Given the description of an element on the screen output the (x, y) to click on. 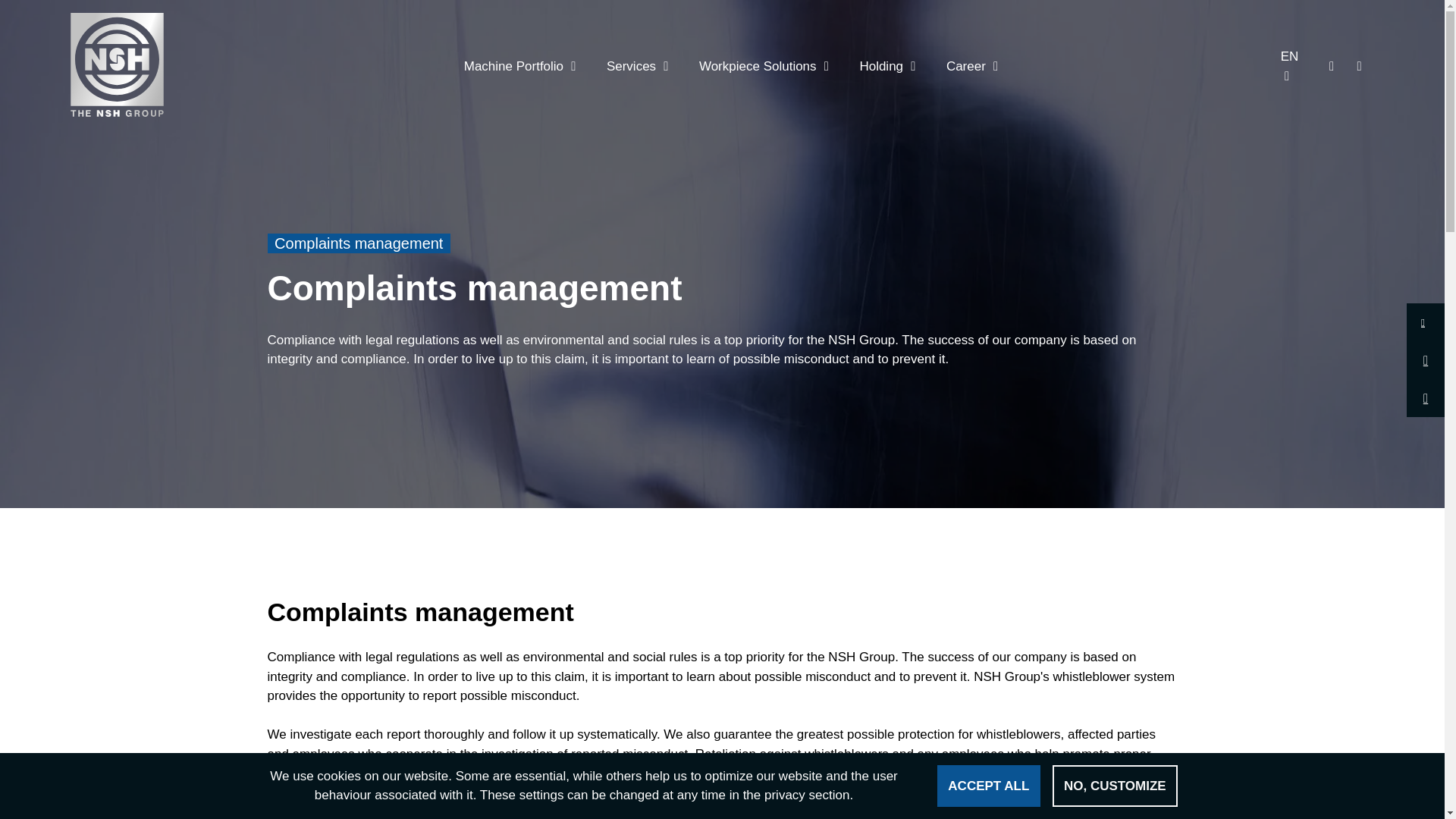
Machine Portfolio (510, 64)
Services (628, 64)
